Given the description of an element on the screen output the (x, y) to click on. 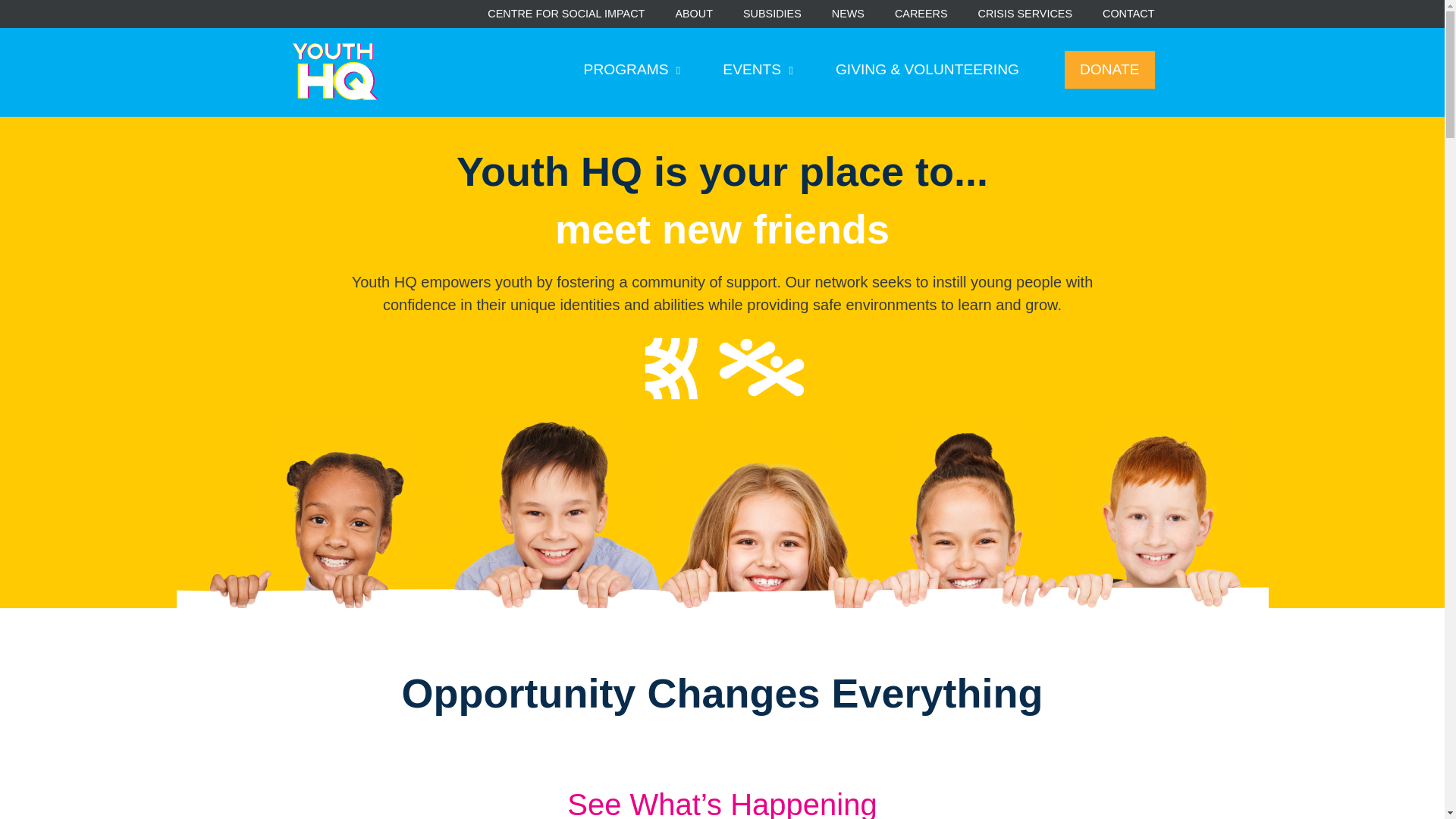
DONATE (1109, 69)
CENTRE FOR SOCIAL IMPACT (566, 13)
PROGRAMS (632, 69)
CONTACT (1128, 13)
EVENTS (757, 69)
NEWS (847, 13)
SUBSIDIES (772, 13)
CRISIS SERVICES (1025, 13)
CAREERS (921, 13)
ABOUT (694, 13)
